Given the description of an element on the screen output the (x, y) to click on. 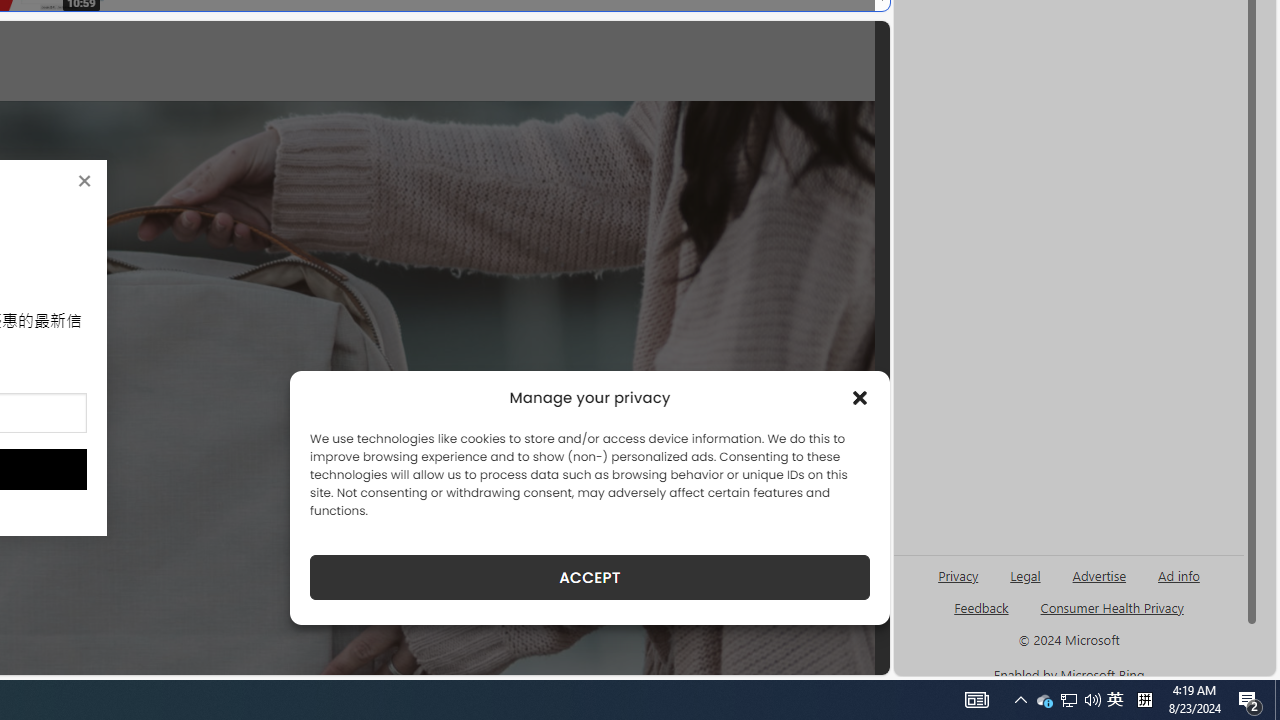
AutomationID: sb_feedback (980, 607)
